Given the description of an element on the screen output the (x, y) to click on. 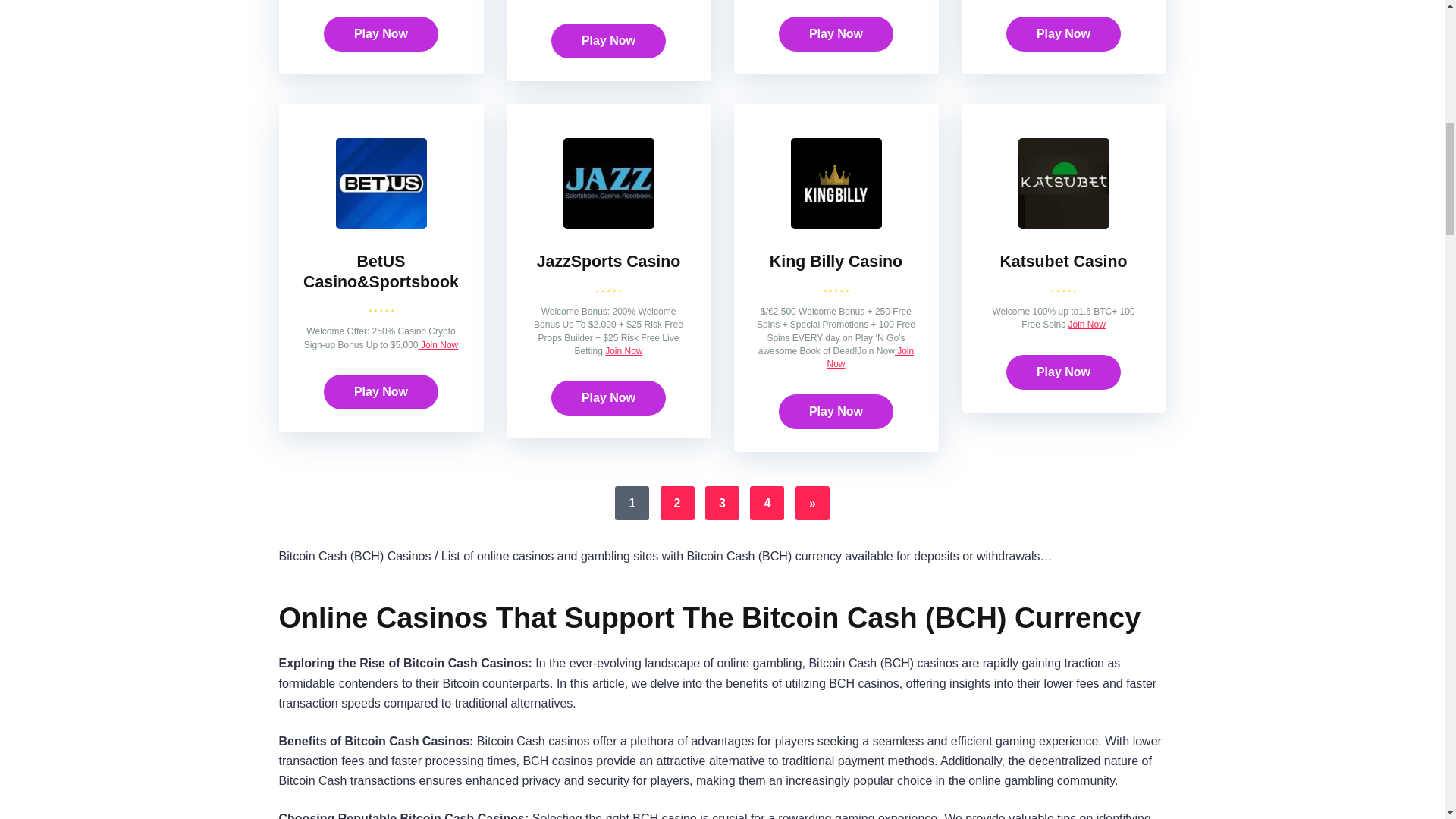
Play Now (608, 40)
Play Now (380, 33)
Play Now (380, 33)
Play Now (608, 40)
